Given the description of an element on the screen output the (x, y) to click on. 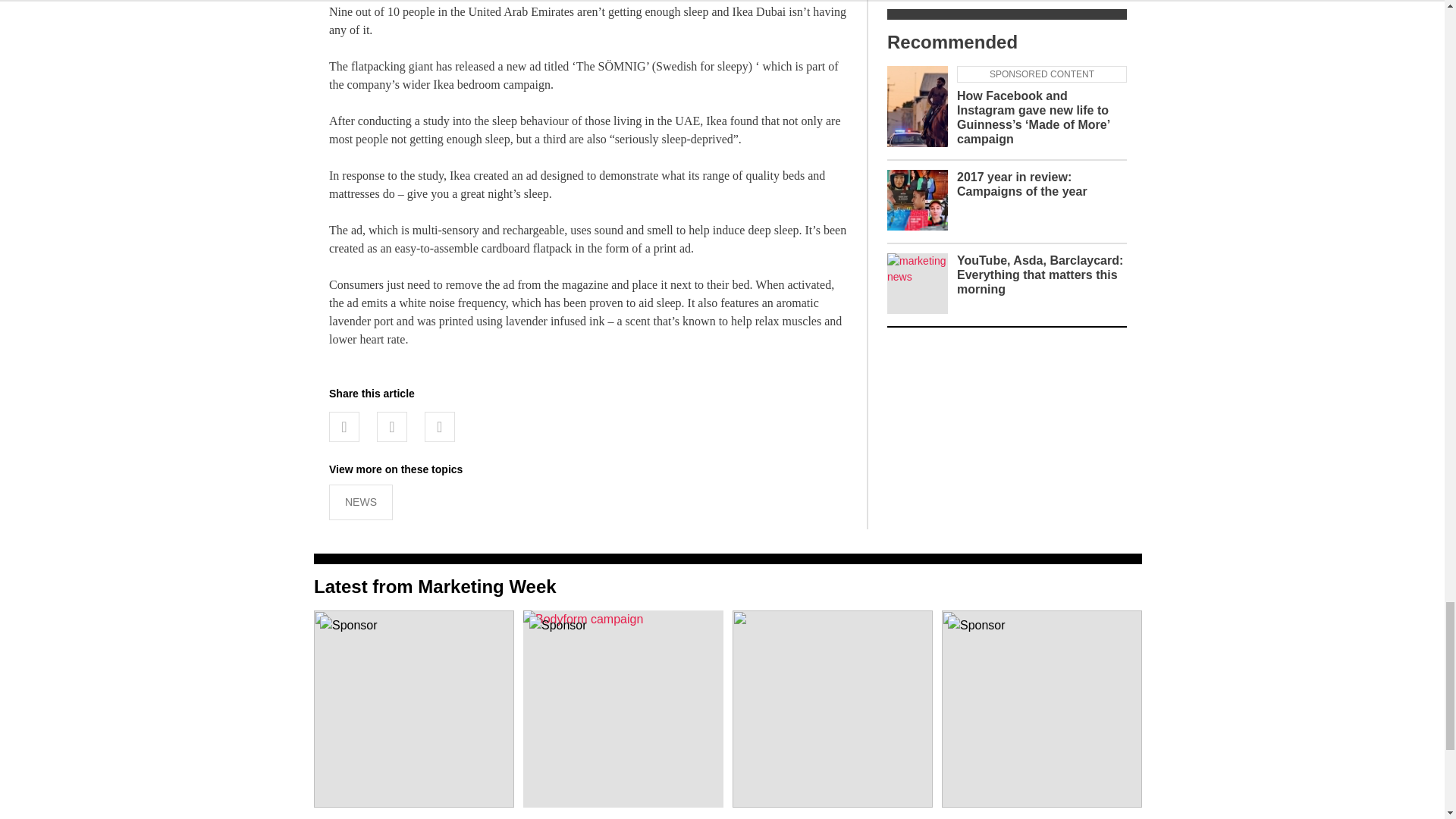
NEWS (361, 502)
